Given the description of an element on the screen output the (x, y) to click on. 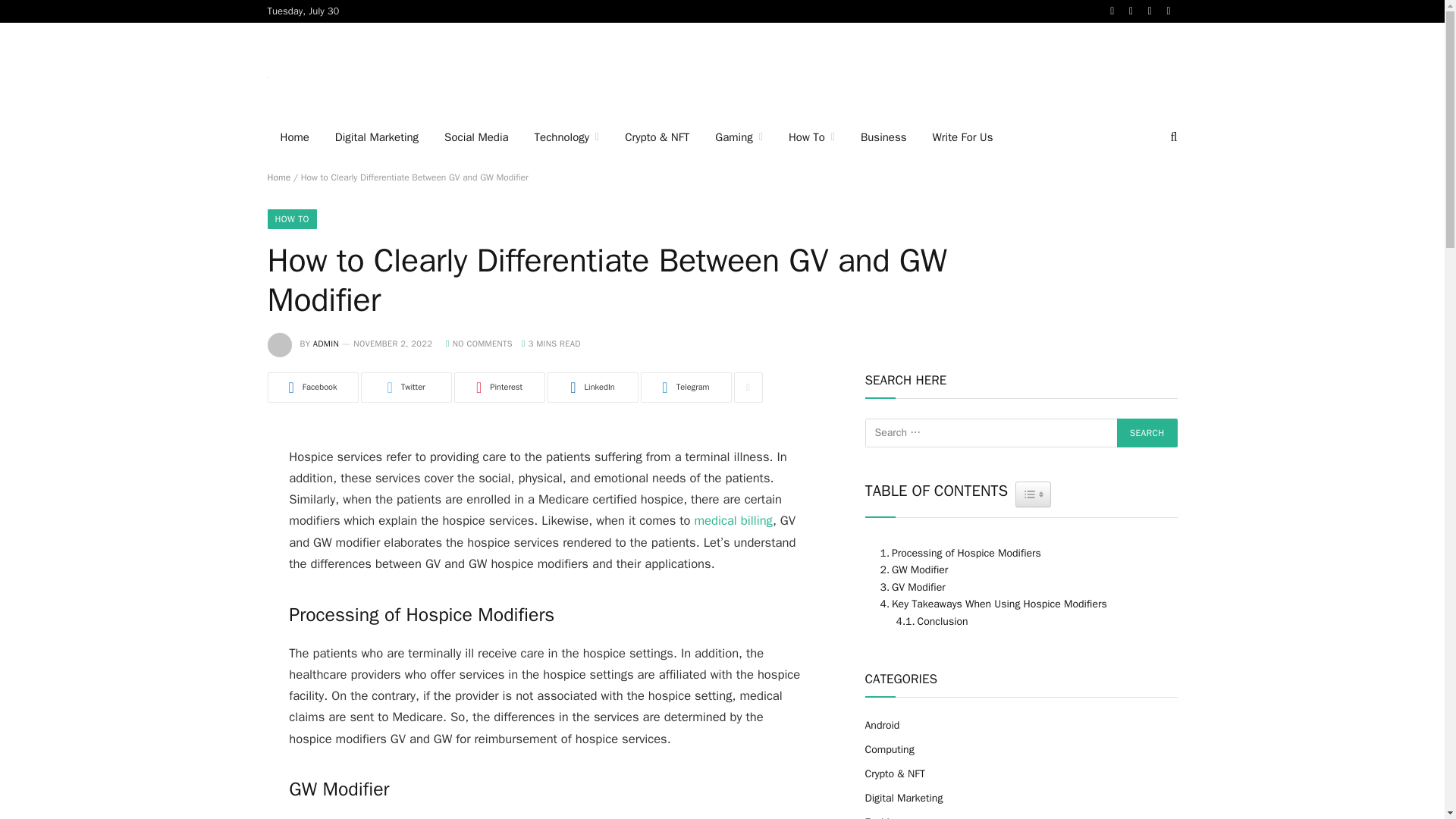
Business (883, 137)
Show More Social Sharing (747, 387)
Twitter (406, 387)
Posts by Admin (326, 343)
Share on LinkedIn (593, 387)
Telegram (685, 387)
Home (293, 137)
HOW TO (290, 219)
How To (811, 137)
Write For Us (962, 137)
Facebook (312, 387)
Share on Facebook (312, 387)
ADMIN (326, 343)
Share on Pinterest (498, 387)
Share on Telegram (685, 387)
